Given the description of an element on the screen output the (x, y) to click on. 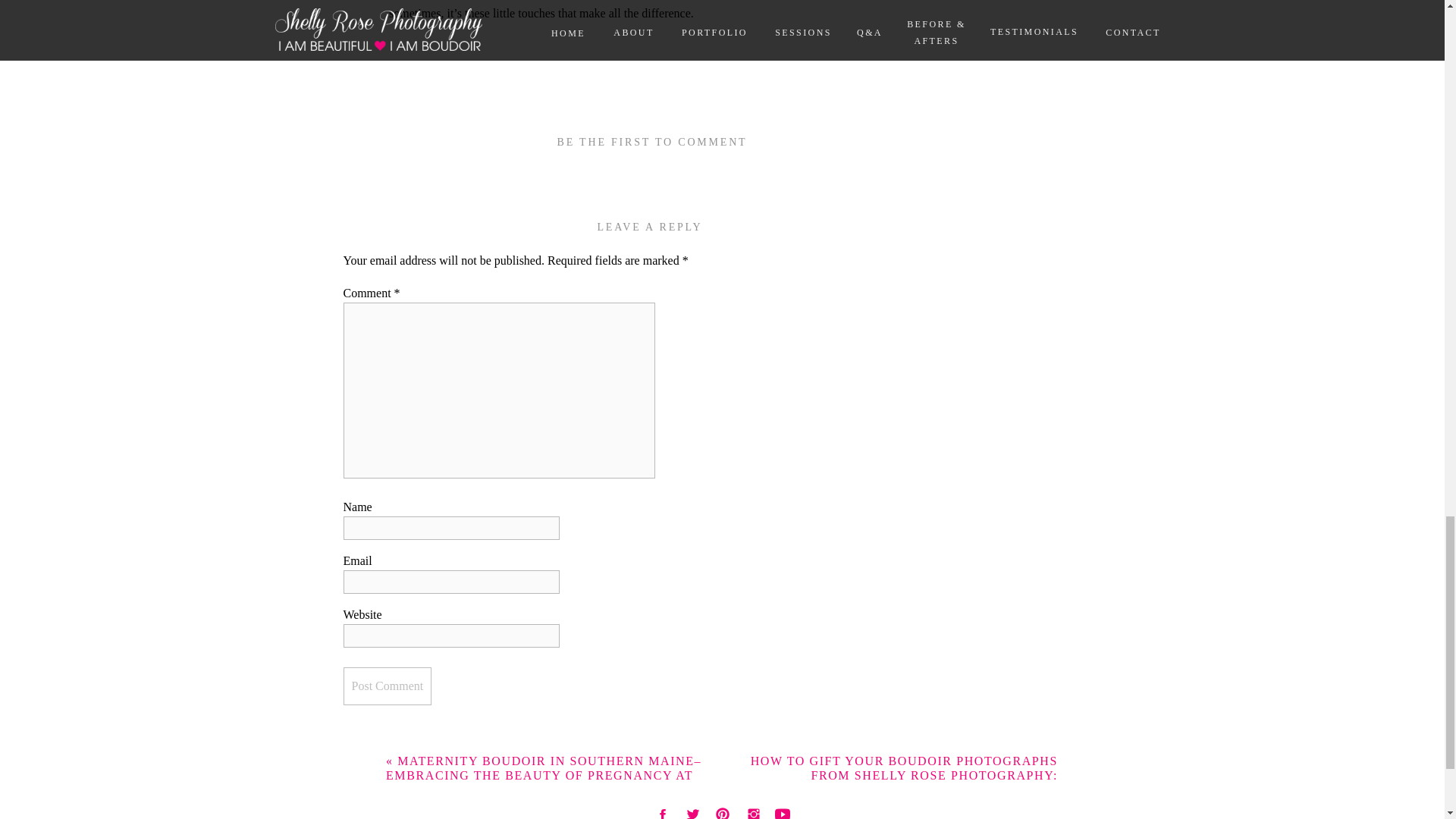
BE THE FIRST TO COMMENT (652, 142)
Post Comment (386, 686)
Post Comment (386, 686)
